Given the description of an element on the screen output the (x, y) to click on. 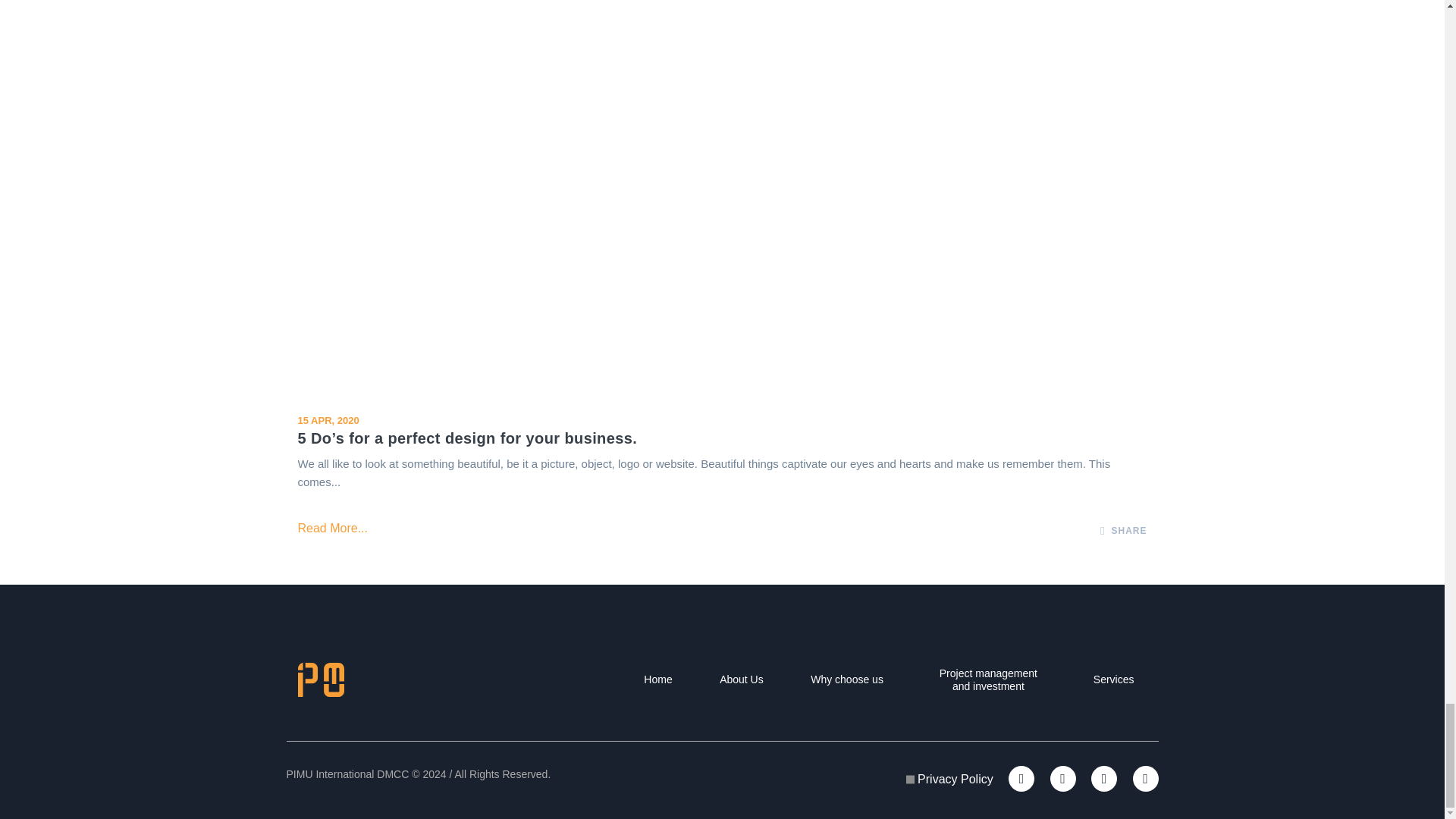
About Us (740, 679)
PIMU International DMCC (320, 680)
Project management and investment (987, 679)
Home (657, 679)
Services (1113, 679)
Why choose us (846, 679)
